Given the description of an element on the screen output the (x, y) to click on. 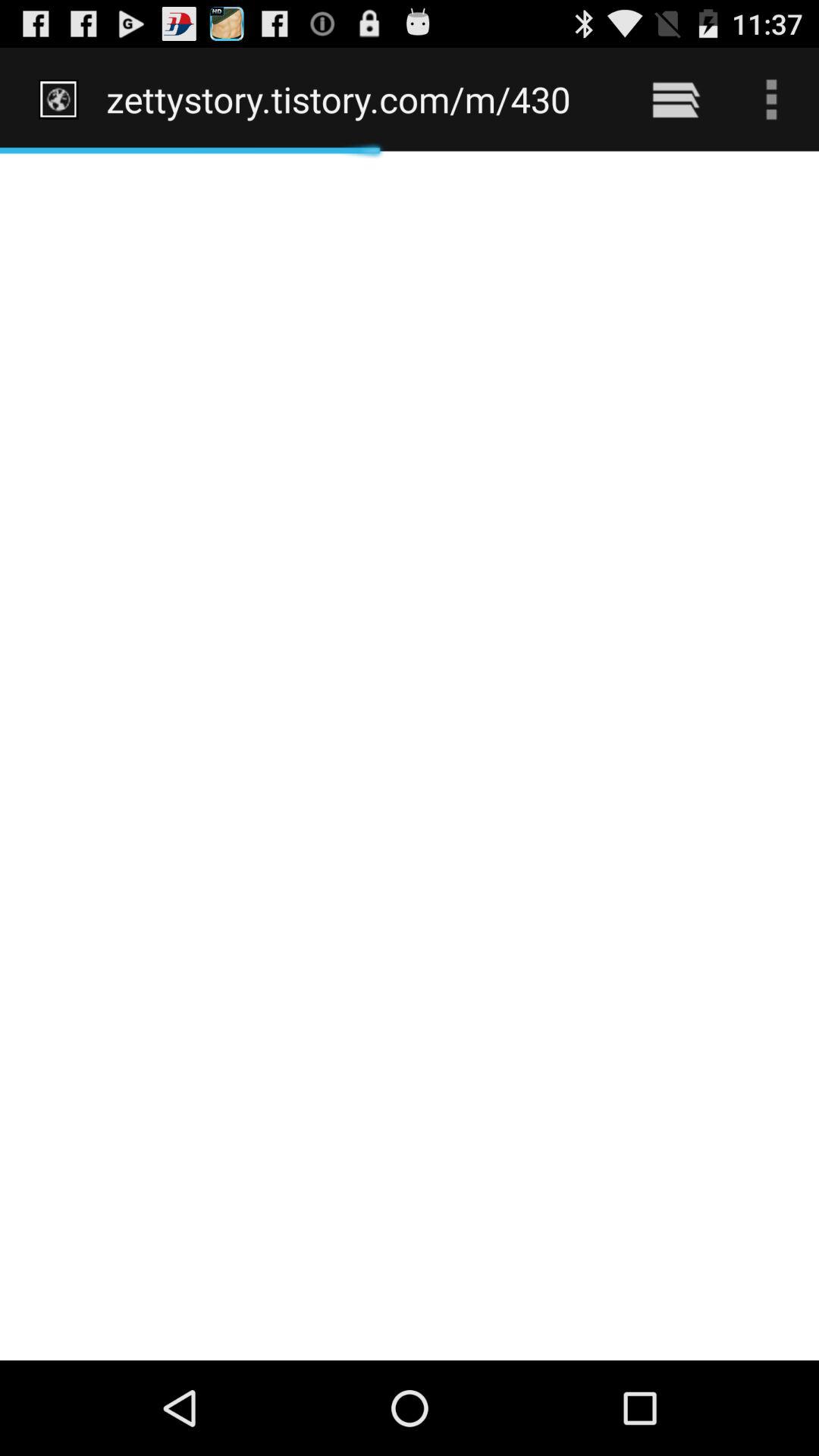
scroll until the zettystory tistory com icon (357, 99)
